Given the description of an element on the screen output the (x, y) to click on. 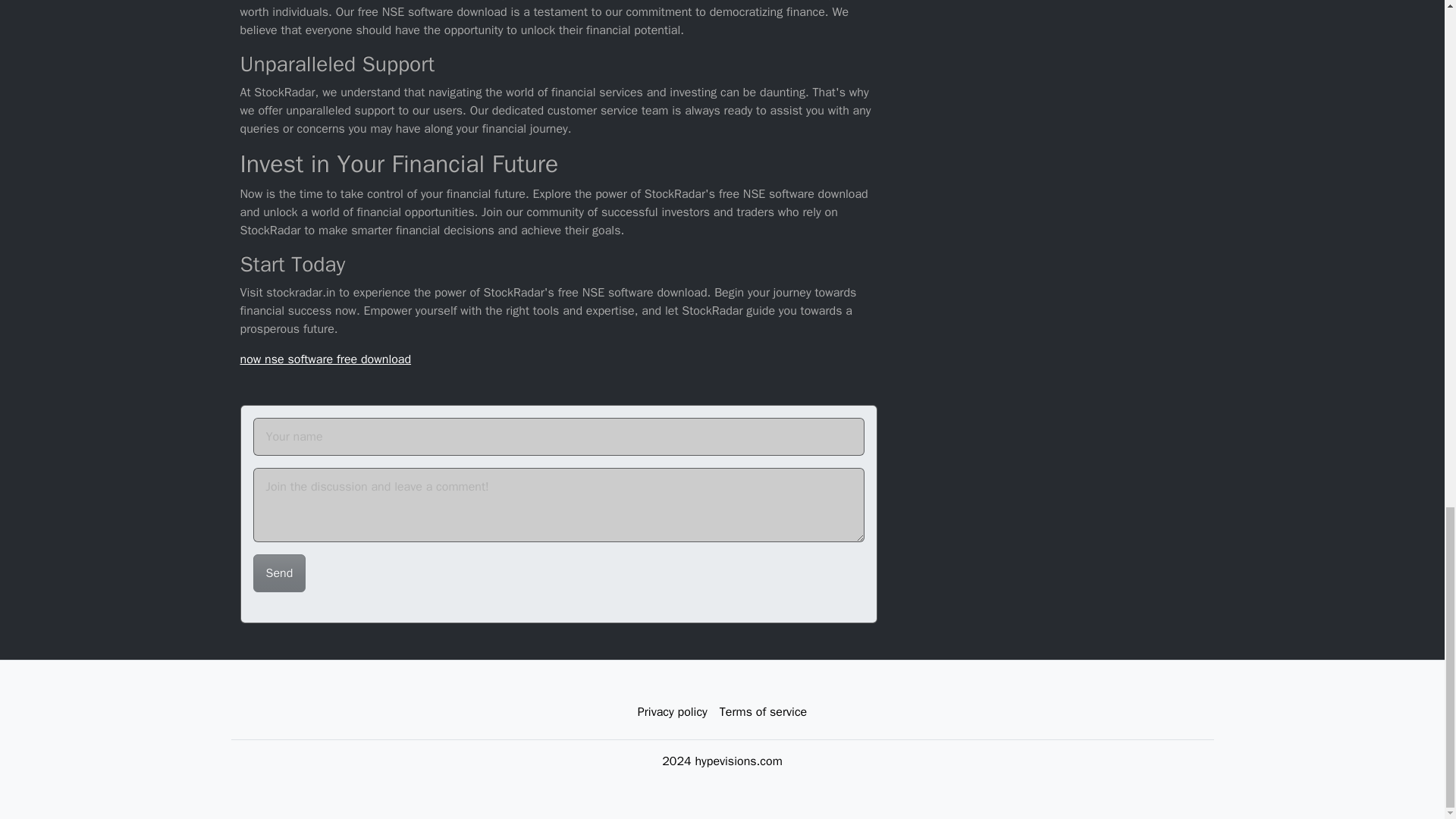
Send (279, 573)
Privacy policy (672, 711)
Terms of service (762, 711)
Send (279, 573)
now nse software free download (325, 359)
